Given the description of an element on the screen output the (x, y) to click on. 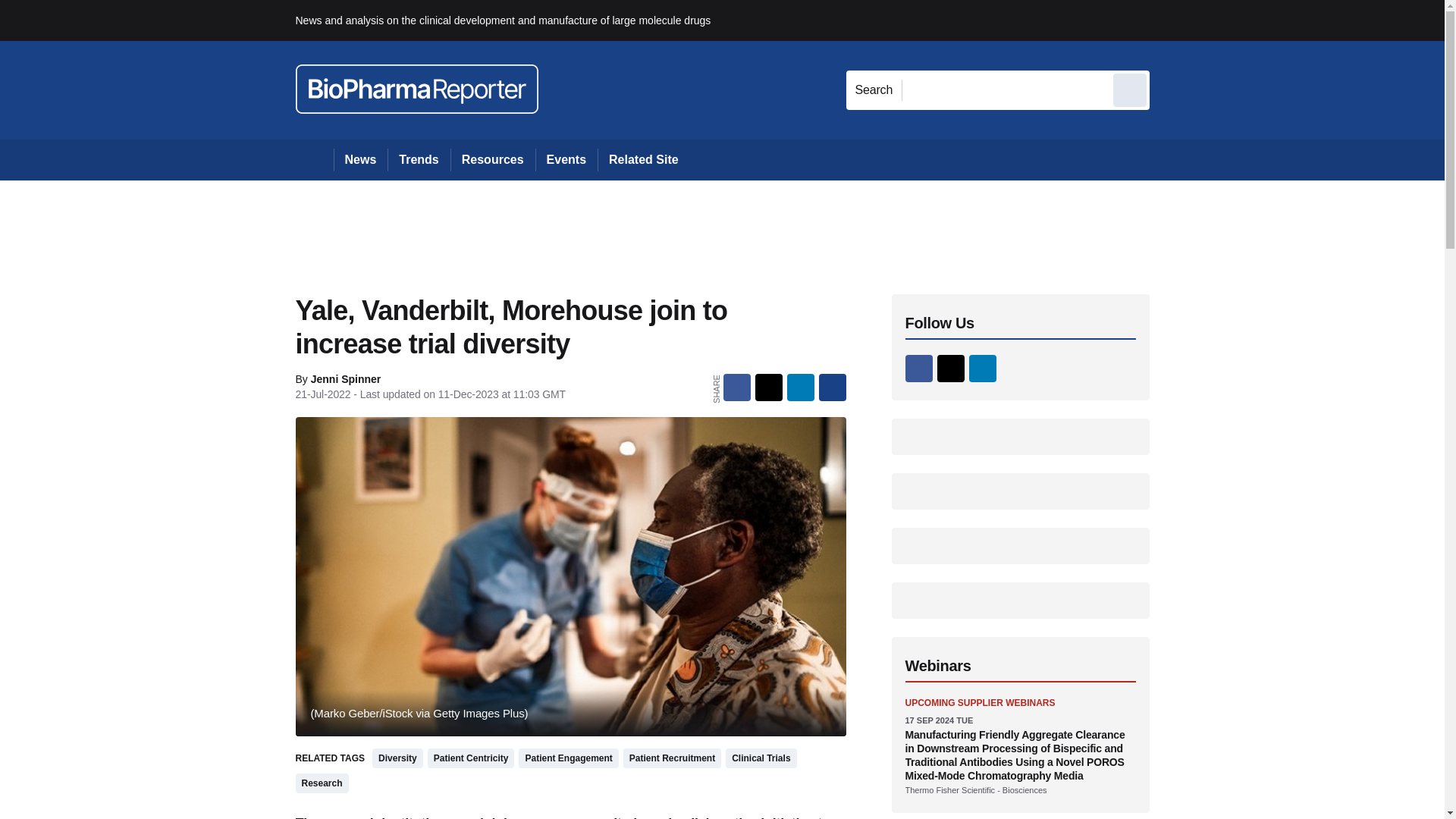
Home (314, 159)
Trends (418, 159)
3rd party ad content (722, 229)
Sign in (1171, 20)
News (360, 159)
BioPharmaReporter (416, 89)
Sign out (1174, 20)
Resources (492, 159)
My account (1256, 20)
Home (313, 159)
